Given the description of an element on the screen output the (x, y) to click on. 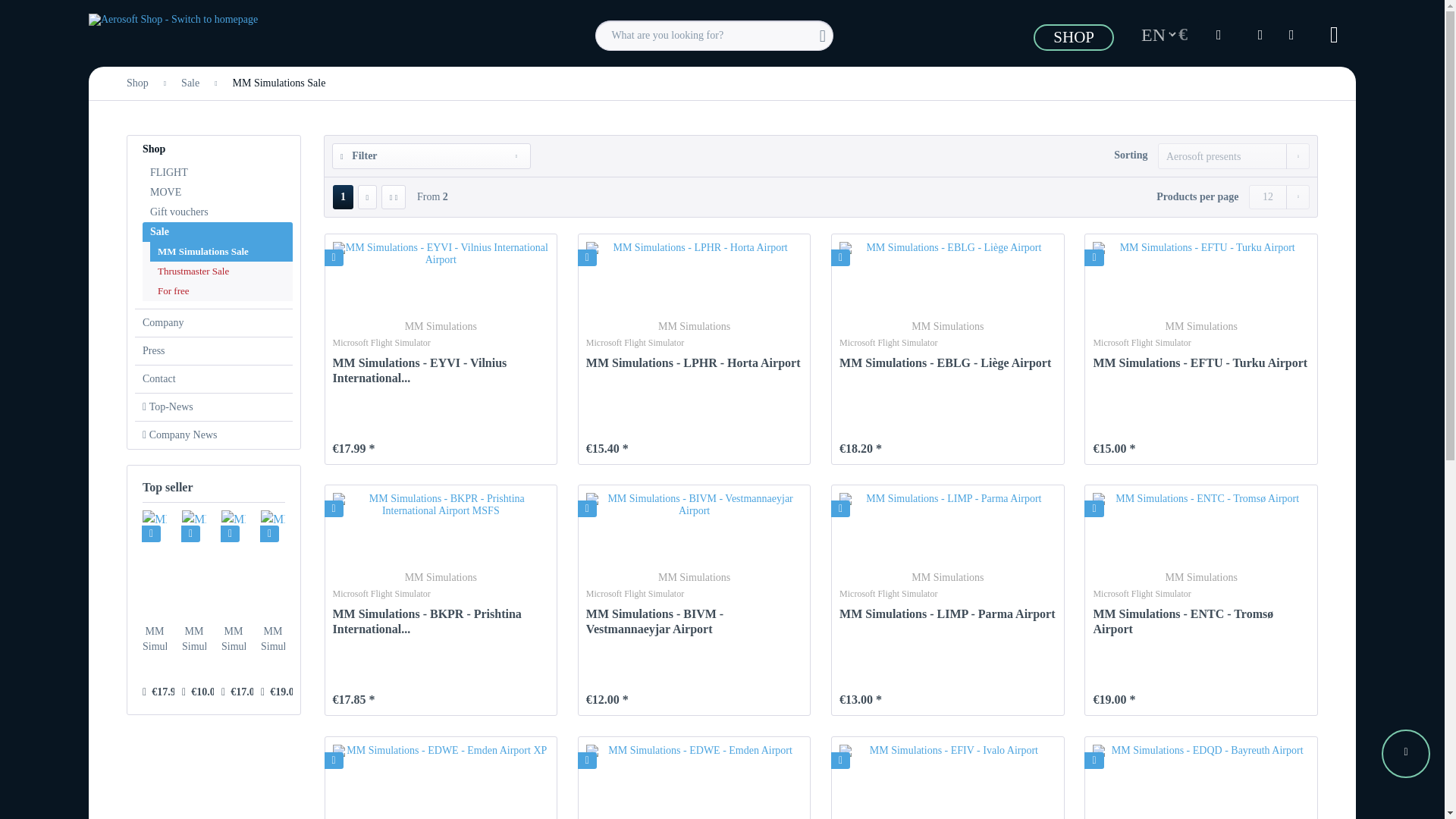
Shop (137, 82)
SHOP (1079, 39)
Company (213, 322)
Shop (137, 82)
Aerosoft Shop - Switch to homepage (172, 41)
My account (1261, 33)
Press (213, 350)
MM Simulations Sale (220, 251)
Shopping cart (1299, 33)
Wish list (1223, 33)
Contact (213, 379)
Shop (213, 148)
For free (220, 291)
Currency change (1184, 33)
MM Simulations Sale (278, 82)
